Given the description of an element on the screen output the (x, y) to click on. 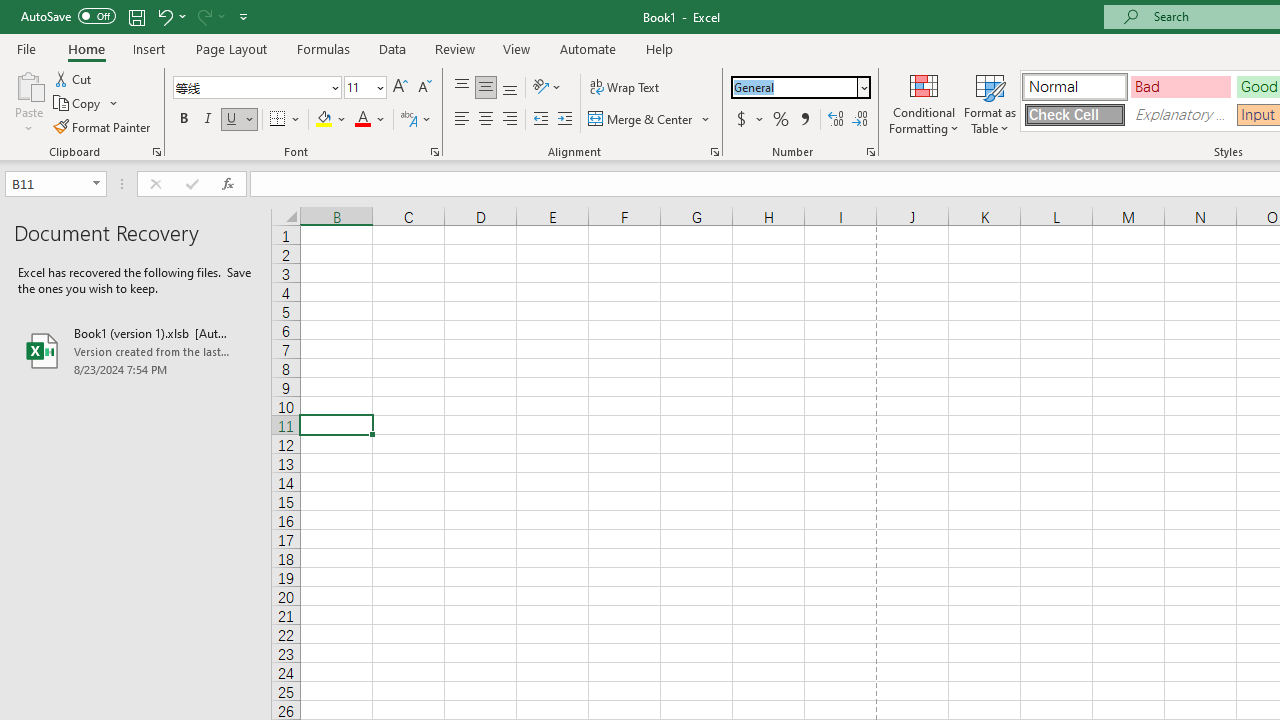
Decrease Font Size (424, 87)
Increase Font Size (399, 87)
Number Format (794, 87)
Comma Style (804, 119)
Paste (28, 84)
Italic (207, 119)
Check Cell (1074, 114)
Font Color (370, 119)
